Given the description of an element on the screen output the (x, y) to click on. 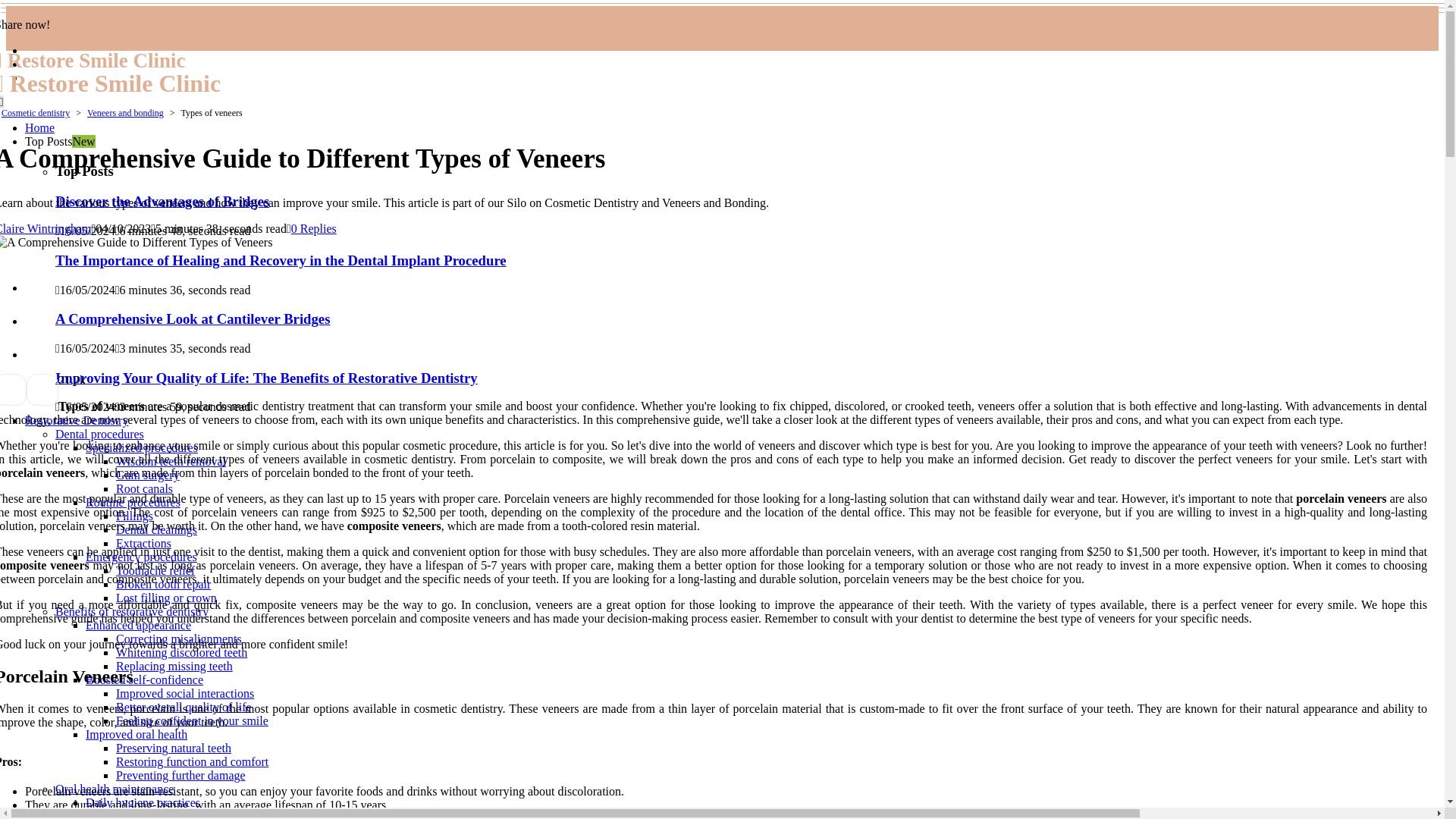
Dental cleanings (156, 529)
Gum surgery (147, 474)
Posts by Claire Wintringham (45, 228)
Like (61, 379)
Restorative Dentistry (76, 420)
Lost filling or crown (166, 597)
Replacing missing teeth (174, 666)
Root canals (144, 488)
Specialized procedures (141, 447)
Broken tooth repair (163, 584)
Extractions (143, 543)
Better overall quality of life (183, 707)
Fillings (134, 515)
